Given the description of an element on the screen output the (x, y) to click on. 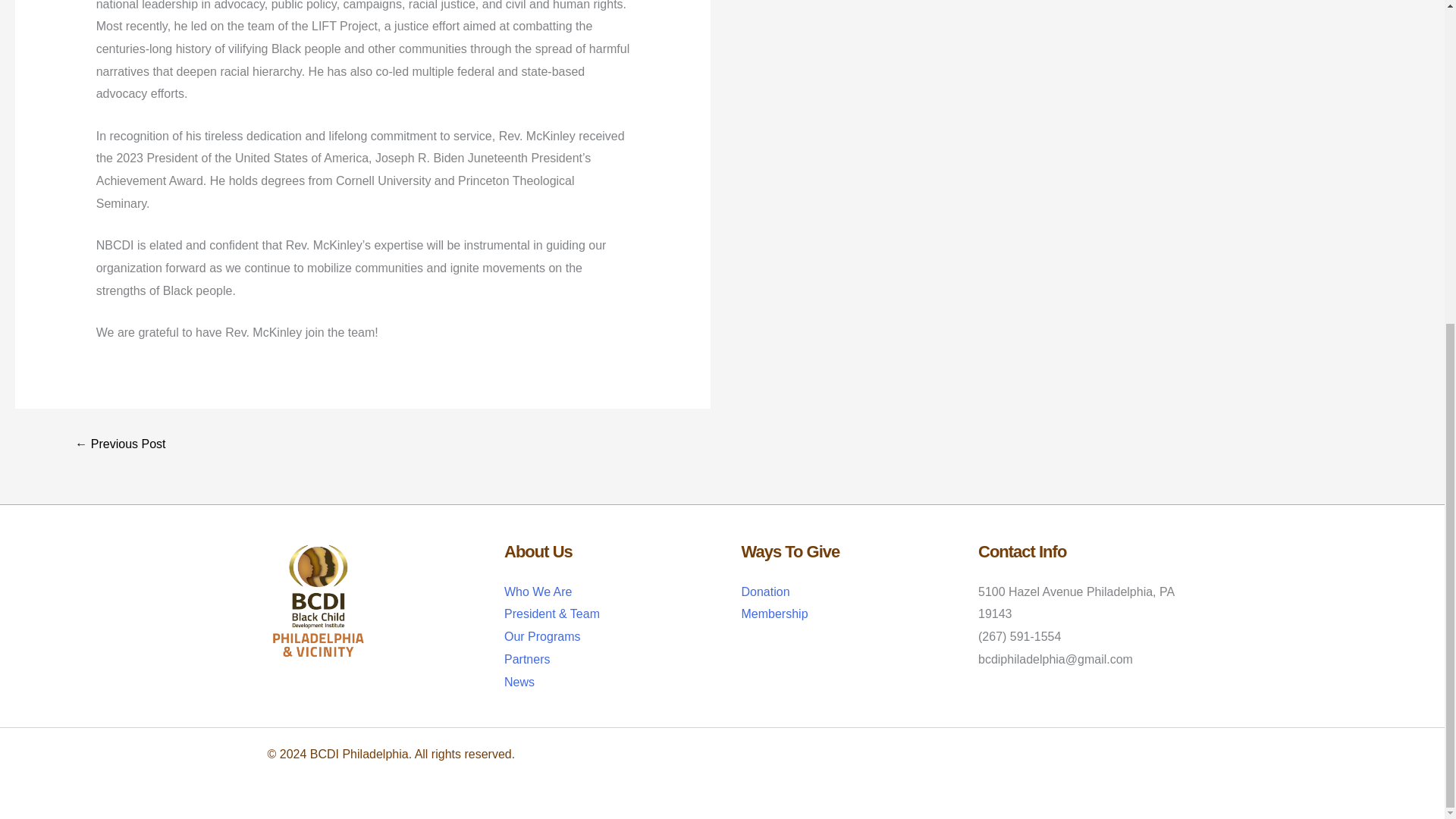
Donation (765, 591)
Partners (526, 658)
Our Programs (541, 635)
News (518, 681)
Who We Are (537, 591)
2024 National Conference Postponed (119, 444)
